Given the description of an element on the screen output the (x, y) to click on. 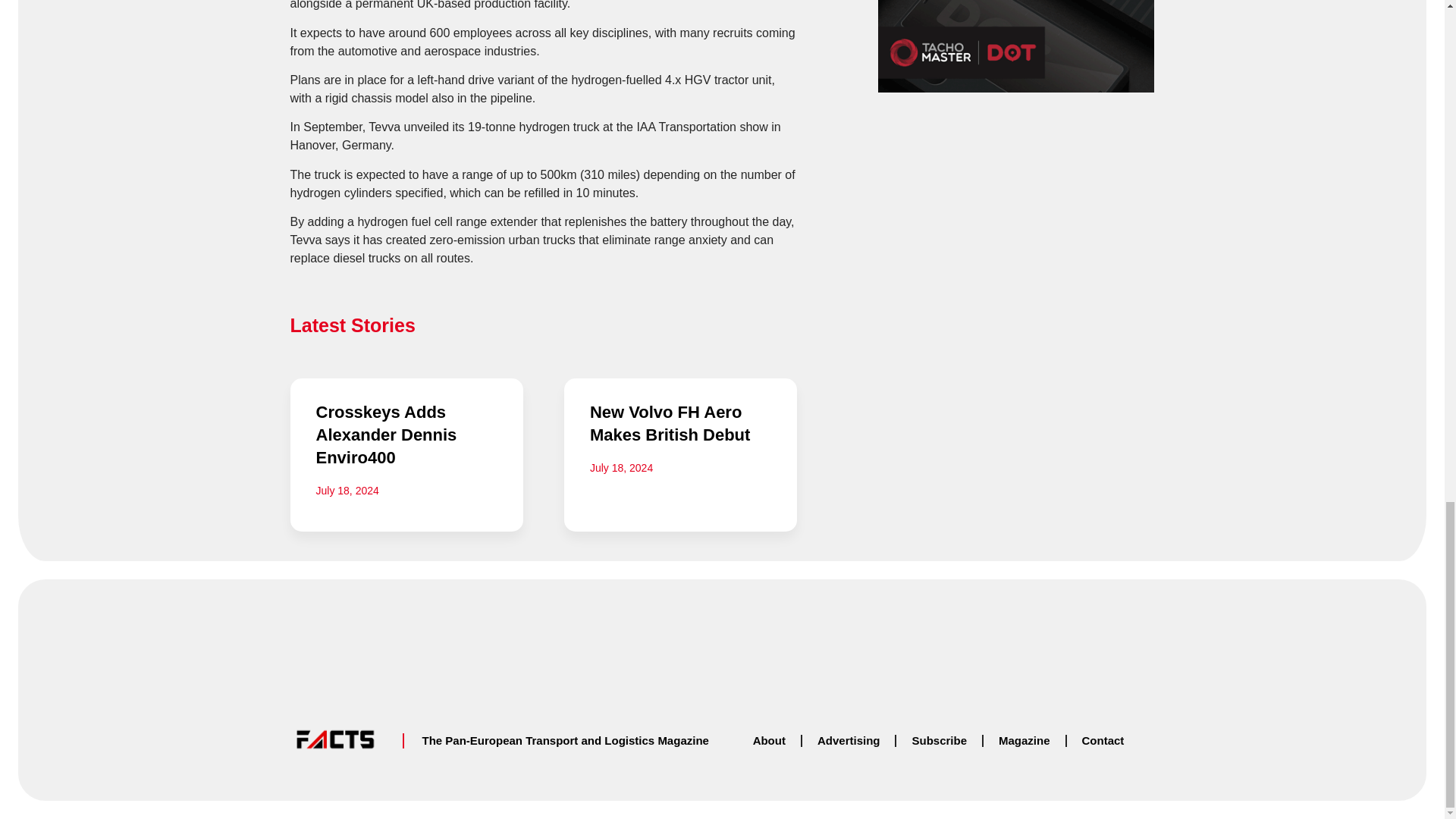
Subscribe (938, 740)
New Volvo FH Aero Makes British Debut (670, 423)
Advertising (848, 740)
Magazine (1024, 740)
Contact (1103, 740)
Crosskeys Adds Alexander Dennis Enviro400 (386, 434)
About (769, 740)
